Given the description of an element on the screen output the (x, y) to click on. 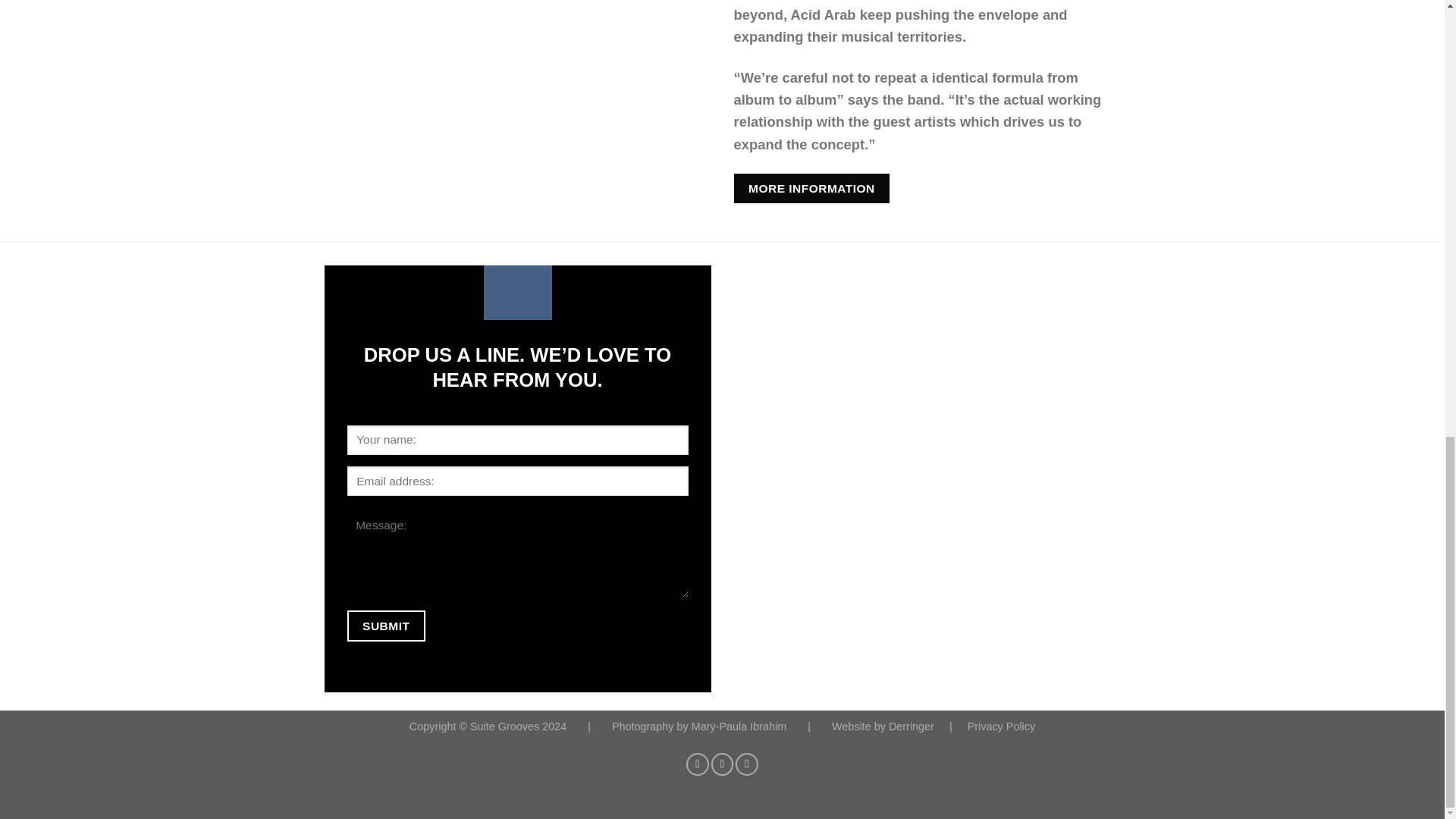
Website by Derringer (884, 726)
MORE INFORMATION (811, 188)
Submit (386, 625)
Privacy Policy (1001, 726)
Photography by Mary-Paula Ibrahim (700, 726)
Submit (386, 625)
